Given the description of an element on the screen output the (x, y) to click on. 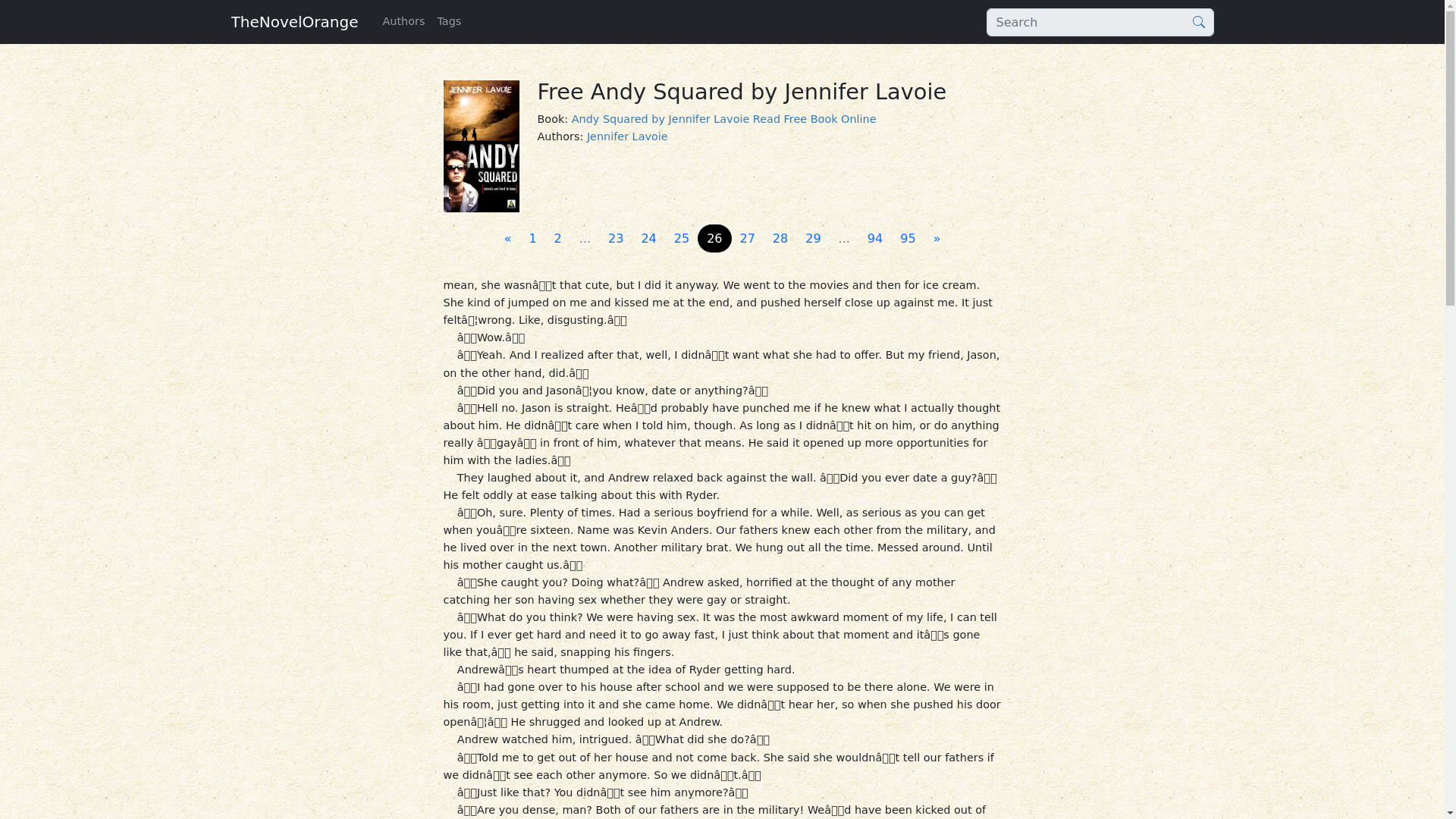
28 (779, 238)
... (844, 238)
2 (557, 238)
29 (812, 238)
1 (531, 238)
25 (681, 238)
24 (648, 238)
27 (747, 238)
26 (713, 238)
Authors (402, 21)
